Given the description of an element on the screen output the (x, y) to click on. 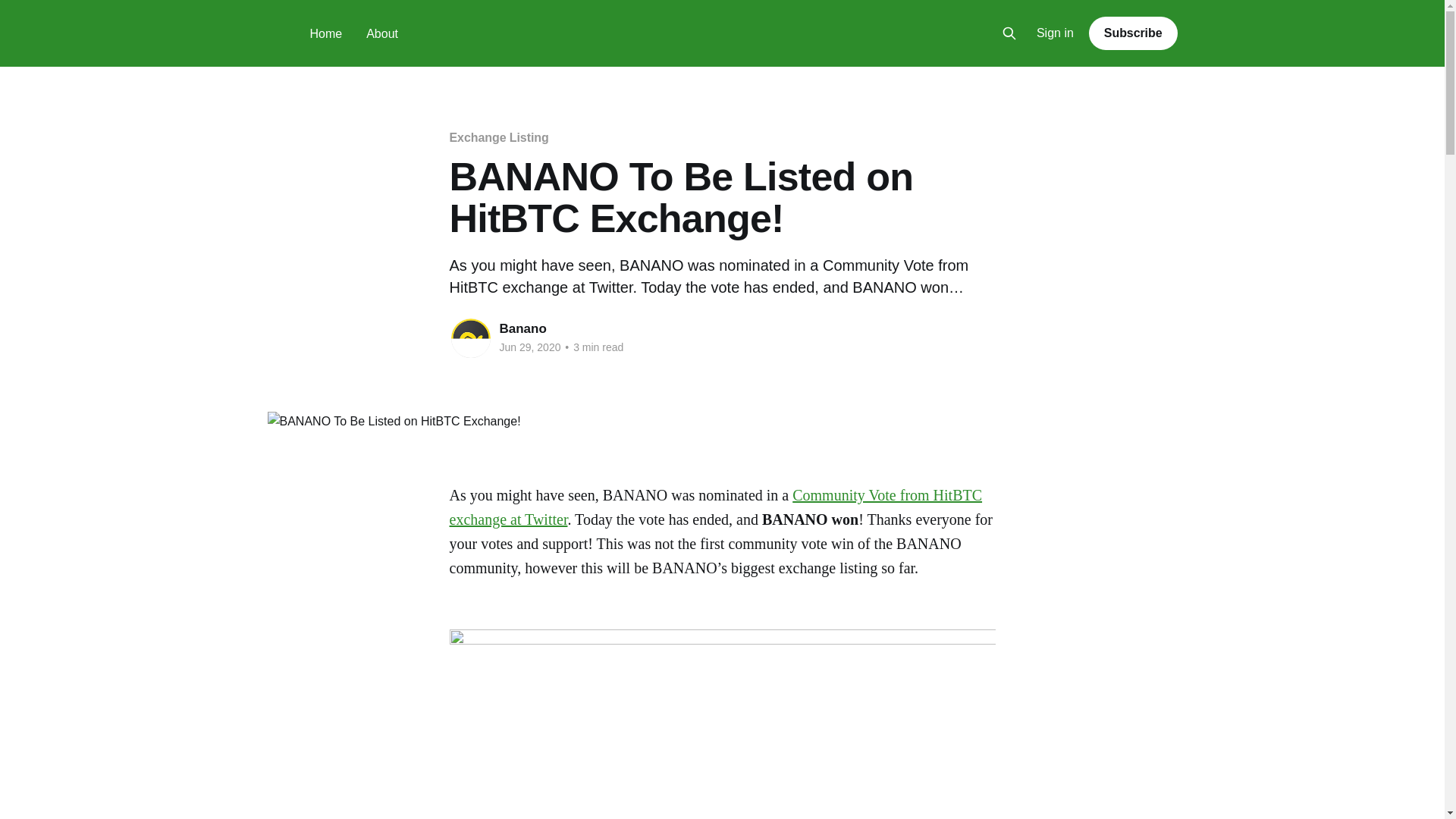
About (381, 33)
Subscribe (1133, 32)
Banano (522, 328)
Home (325, 33)
Community Vote from HitBTC exchange at Twitter (714, 506)
Exchange Listing (498, 137)
Sign in (1055, 33)
